Given the description of an element on the screen output the (x, y) to click on. 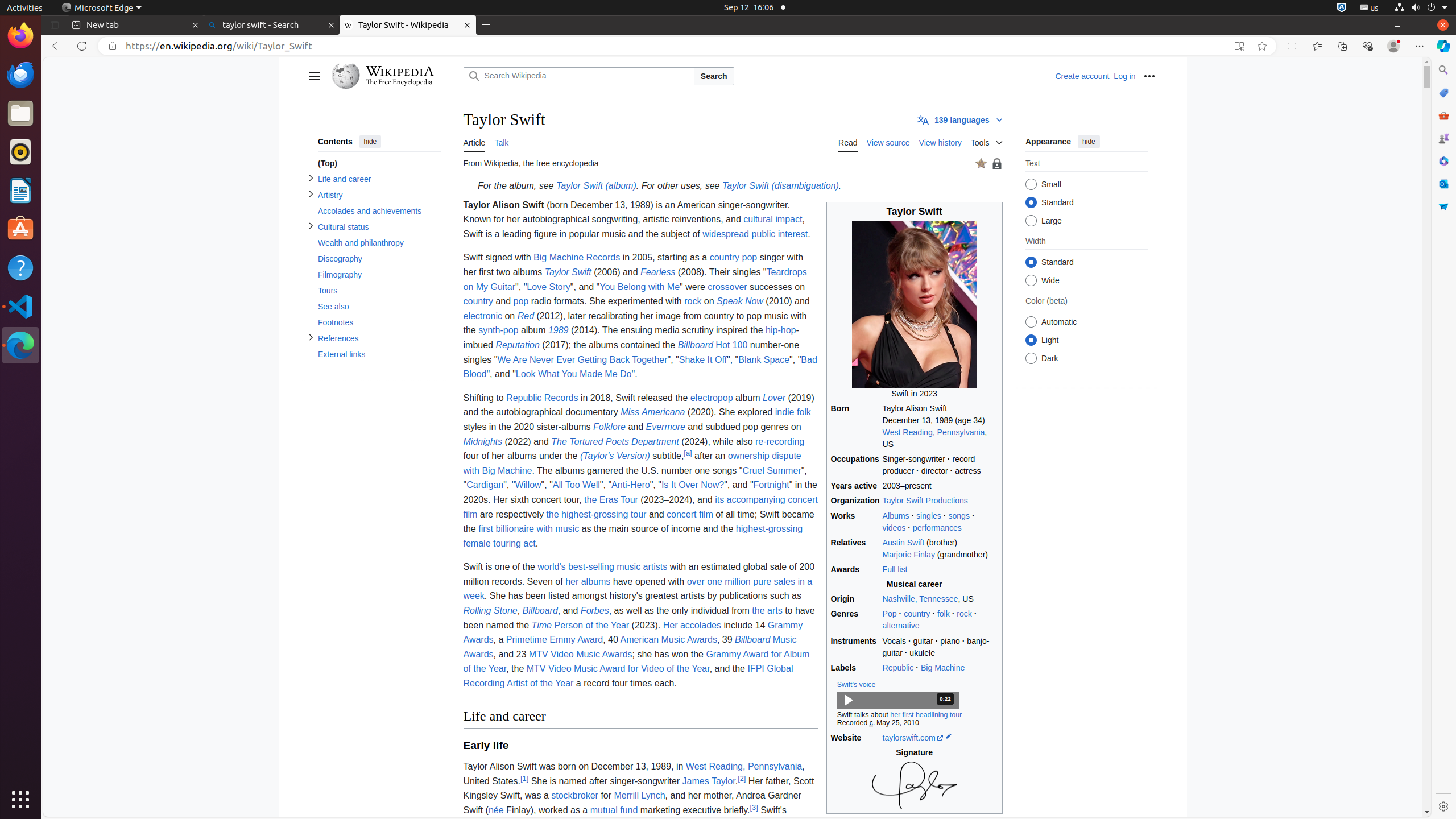
Artistry Element type: link (378, 195)
Full list Element type: link (894, 568)
Fortnight Element type: link (771, 485)
Albums Element type: link (895, 515)
View site information Element type: push-button (112, 46)
